Given the description of an element on the screen output the (x, y) to click on. 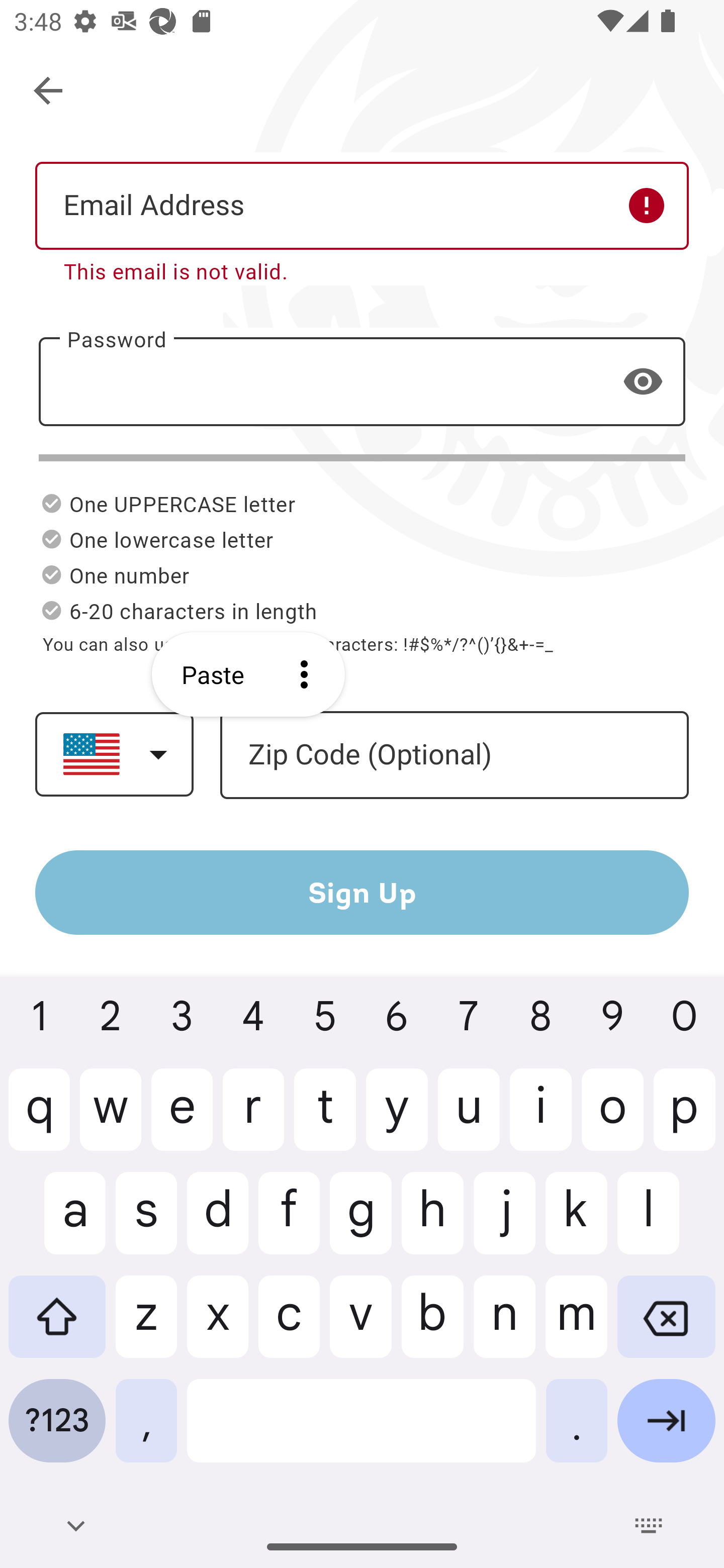
Navigate up (49, 91)
Email Address - Required (361, 205)
- Required (361, 381)
Show password (642, 380)
Zip Code – Optional (454, 755)
Select a country. United States selected. (114, 753)
Sign Up (361, 891)
